Given the description of an element on the screen output the (x, y) to click on. 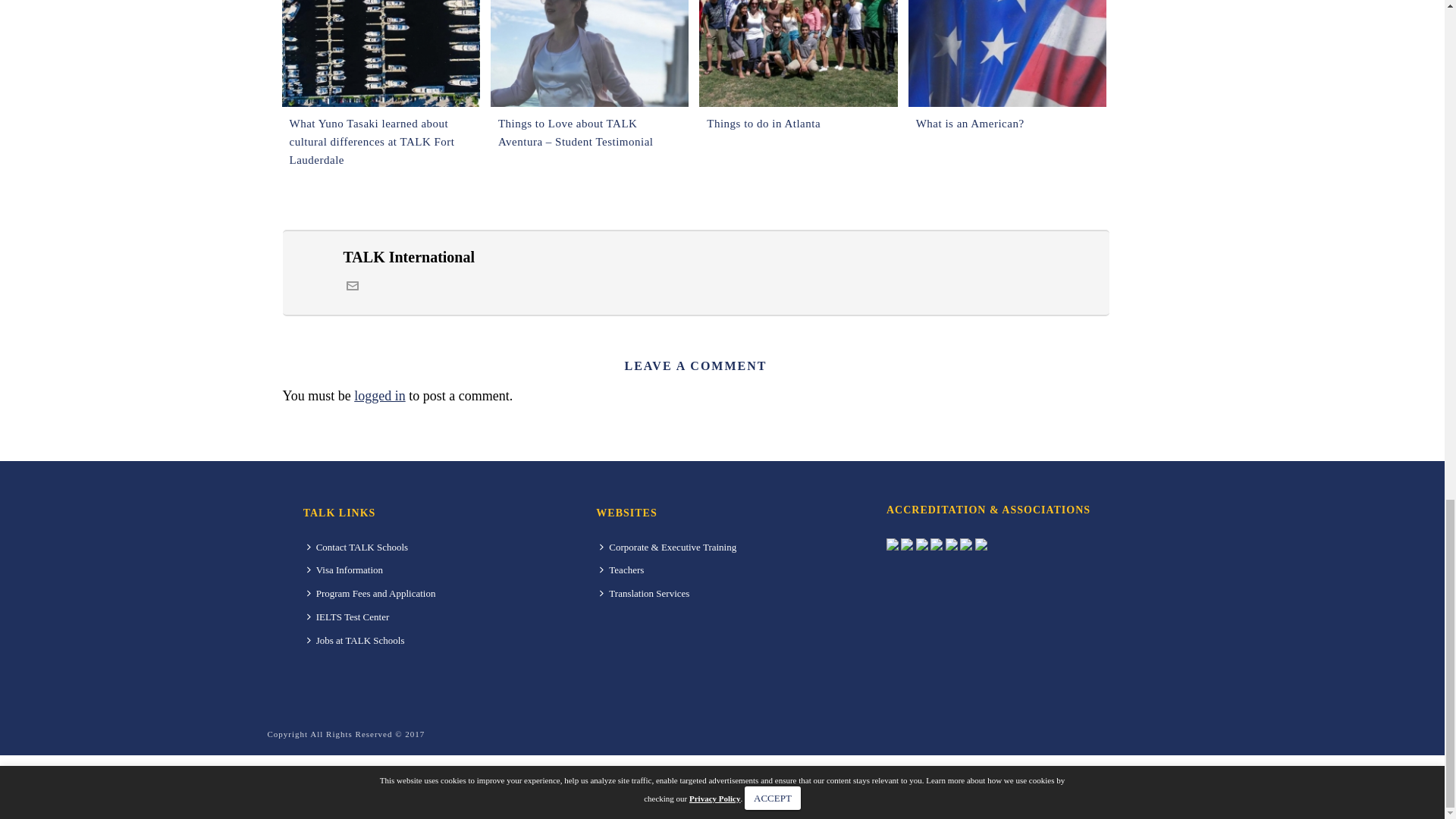
Things to do in Atlanta (797, 53)
